Given the description of an element on the screen output the (x, y) to click on. 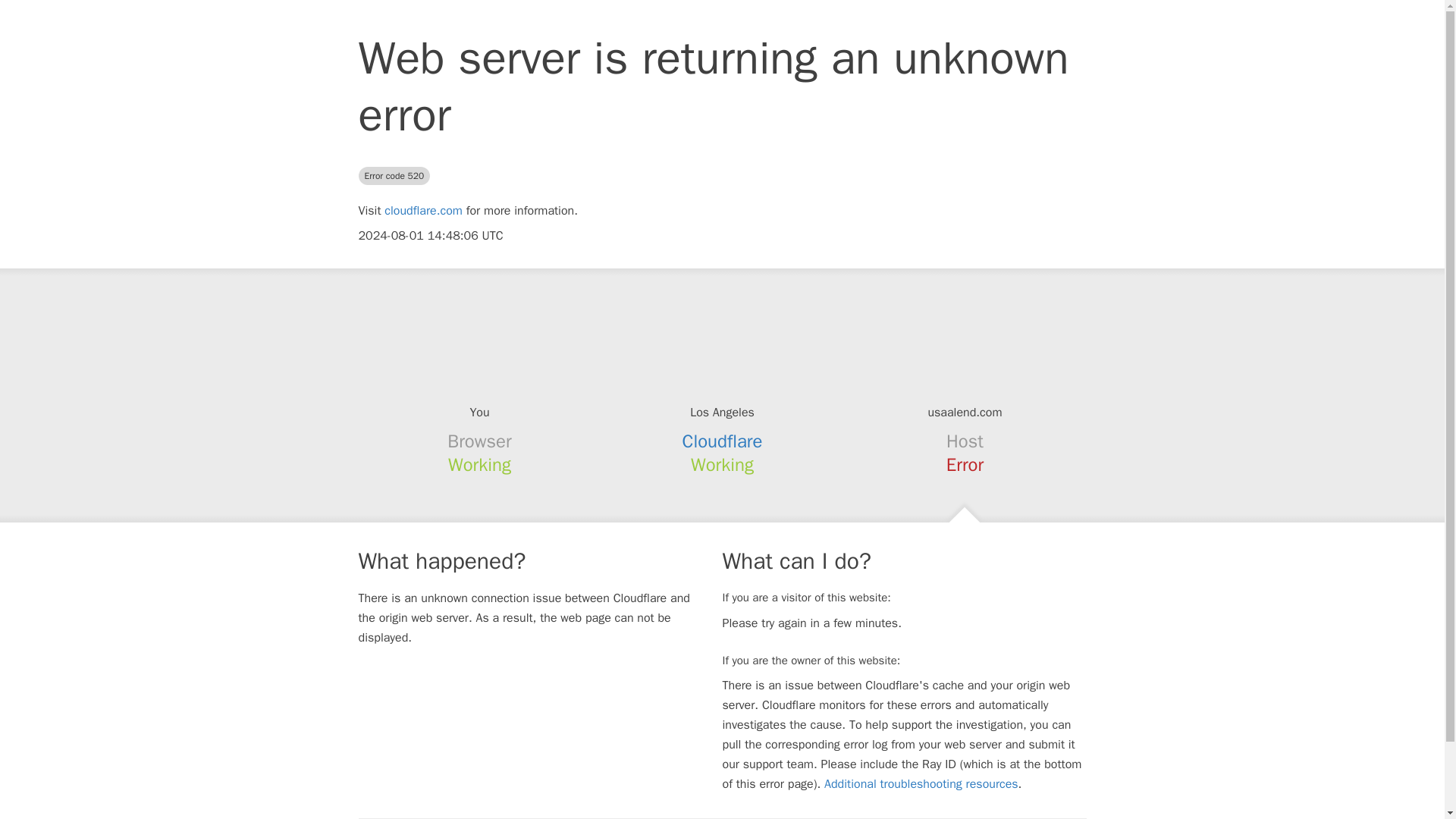
cloudflare.com (423, 210)
Additional troubleshooting resources (920, 783)
Cloudflare (722, 440)
